Given the description of an element on the screen output the (x, y) to click on. 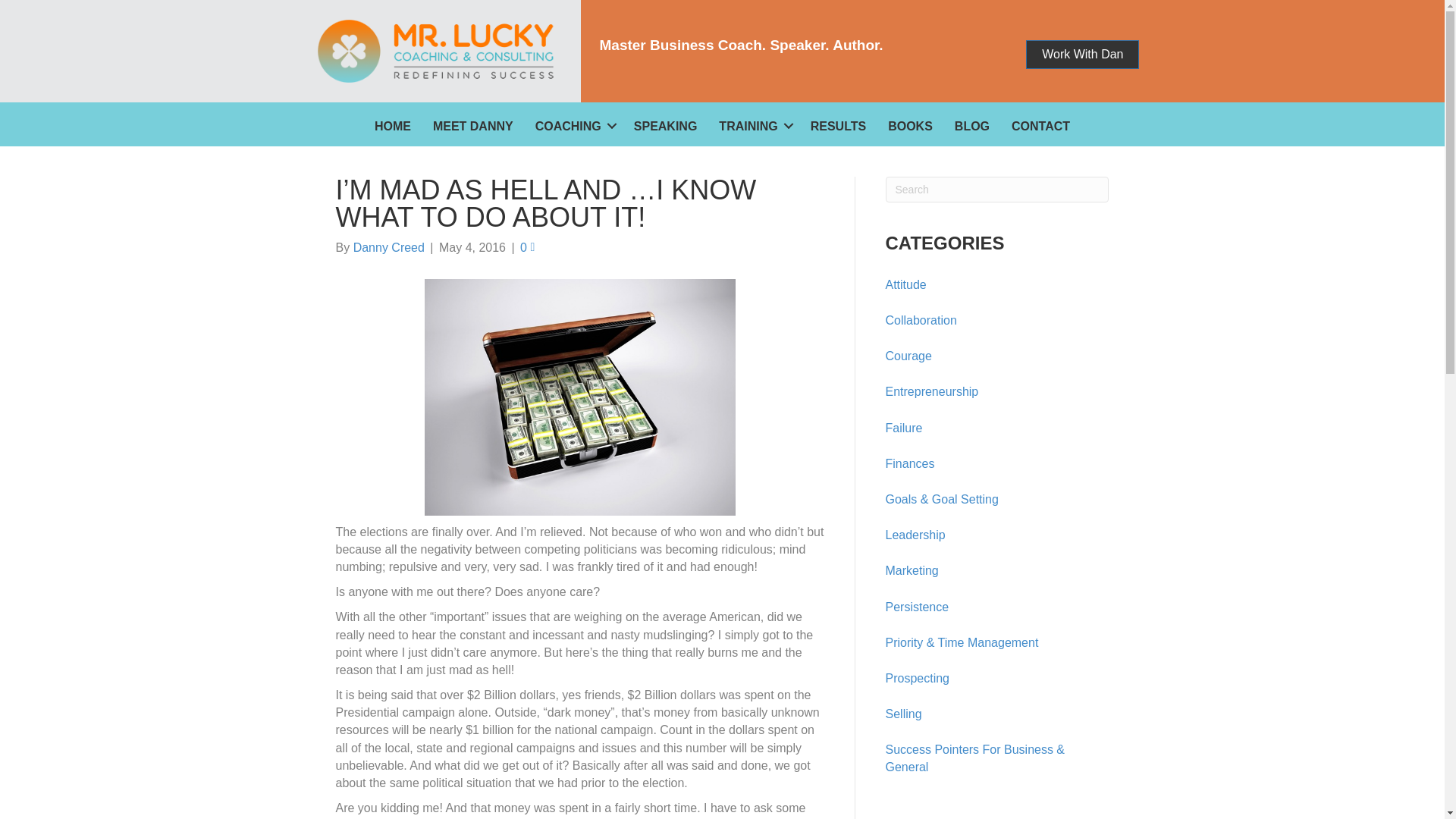
Type and press Enter to search. (997, 189)
mrluckylogo (435, 50)
SPEAKING (665, 125)
COACHING (573, 125)
TRAINING (752, 125)
MEET DANNY (473, 125)
Work With Dan (1082, 54)
HOME (393, 125)
